Given the description of an element on the screen output the (x, y) to click on. 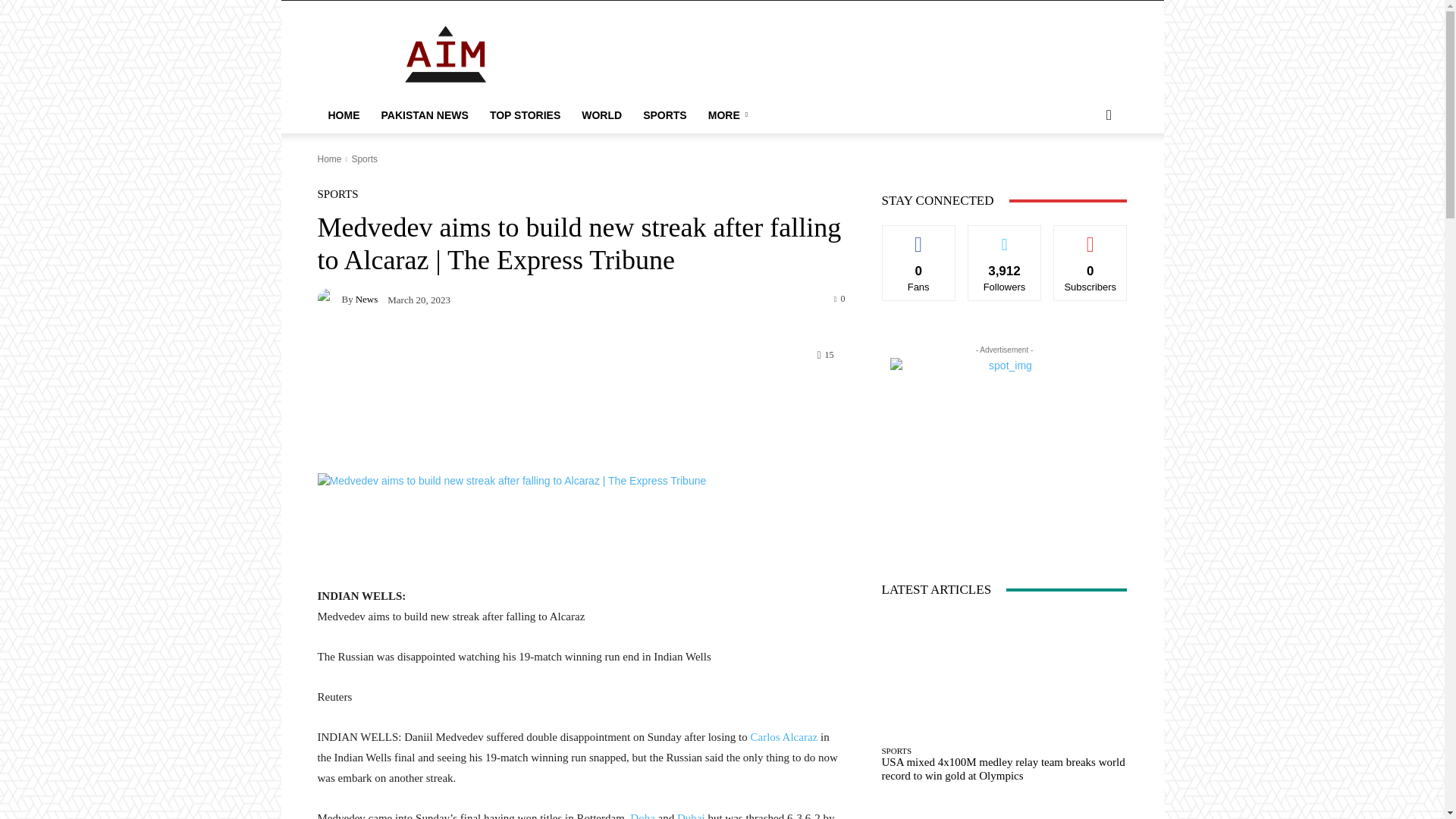
Search (1085, 175)
News (366, 298)
TOP STORIES (524, 115)
Home (328, 158)
SPORTS (337, 194)
0 (839, 297)
News (328, 298)
SPORTS (664, 115)
WORLD (600, 115)
Doha (642, 815)
